Given the description of an element on the screen output the (x, y) to click on. 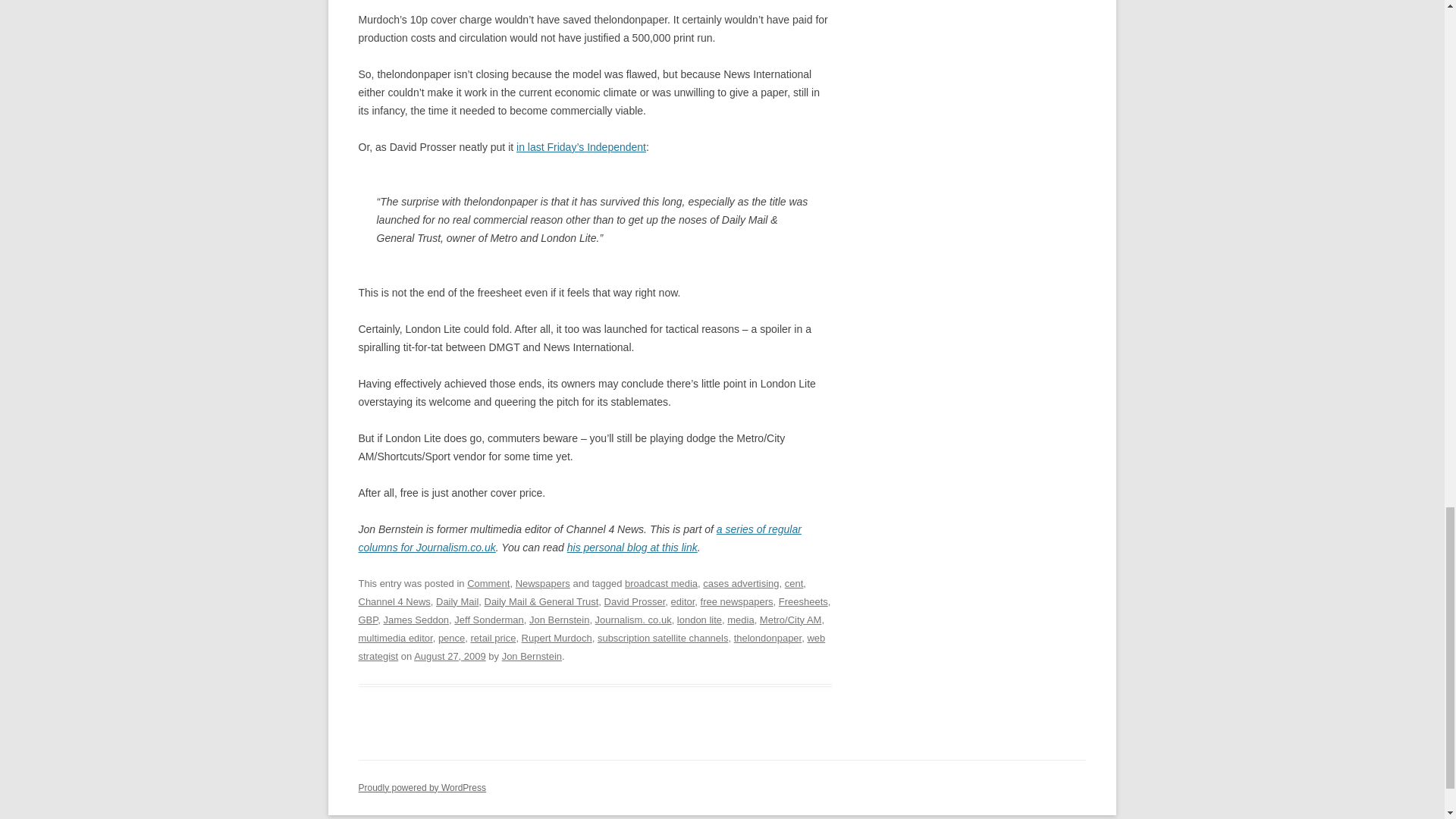
Comment (488, 583)
cent (793, 583)
free newspapers (736, 601)
subscription satellite channels (662, 637)
broadcast media (660, 583)
James Seddon (415, 619)
pence (451, 637)
a series of regular columns for Journalism.co.uk (579, 538)
media (740, 619)
Jon Bernstein (559, 619)
